Given the description of an element on the screen output the (x, y) to click on. 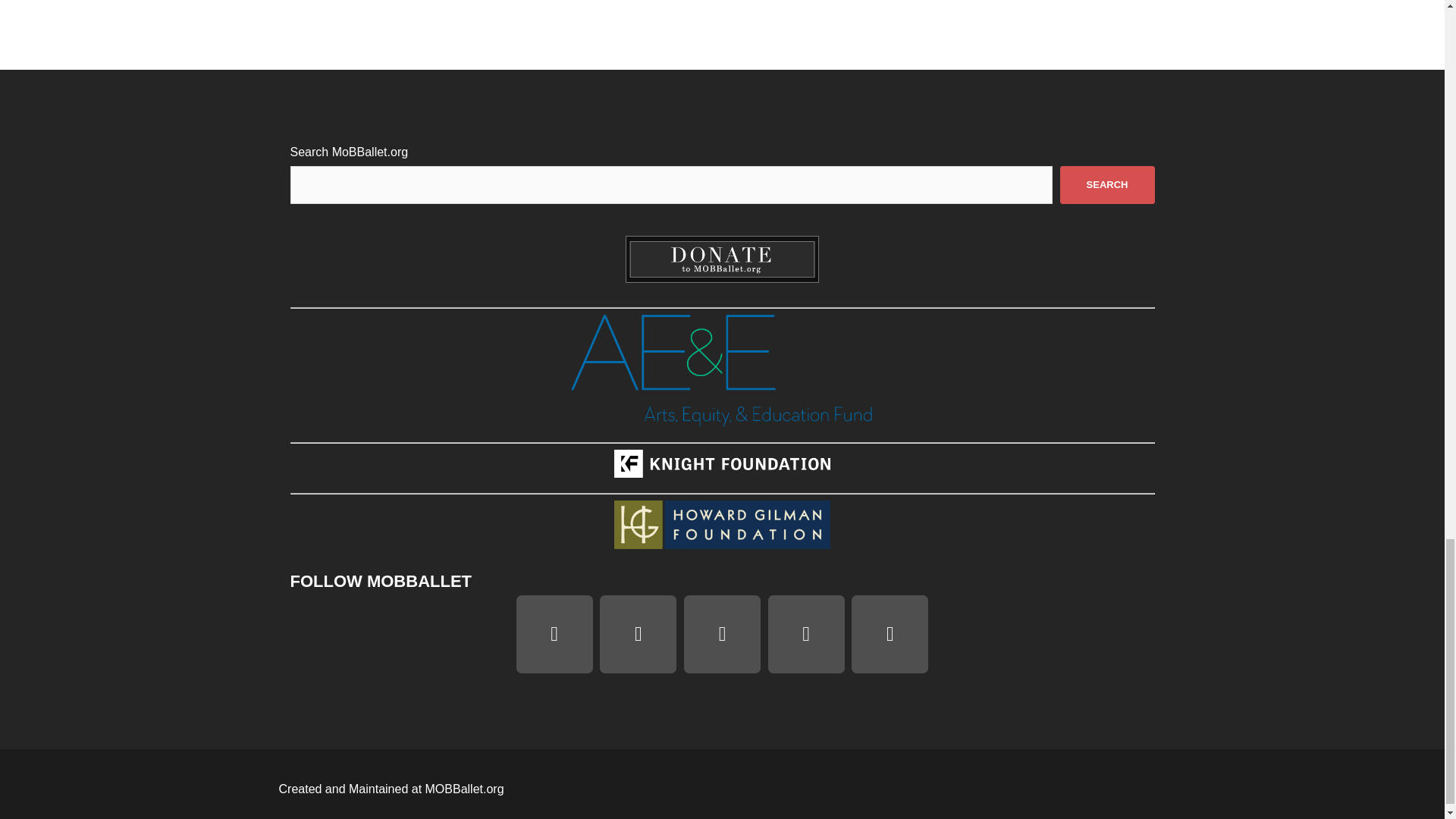
Instagram (554, 634)
Youtube (722, 634)
Facebook (638, 634)
LinkedIn (889, 634)
SEARCH (1106, 184)
Twitter (806, 634)
